Given the description of an element on the screen output the (x, y) to click on. 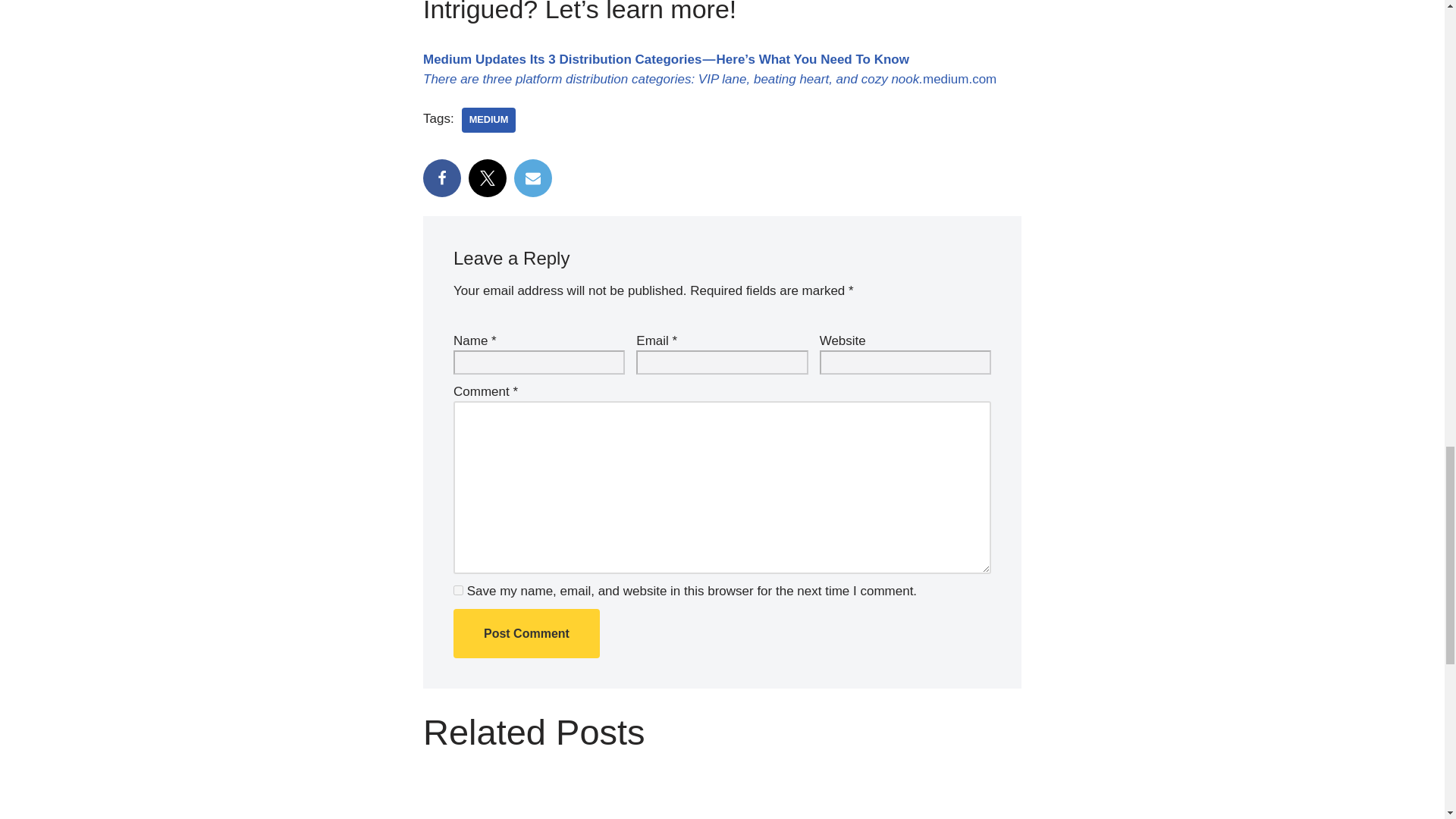
X (487, 177)
Facebook (442, 177)
Post Comment (525, 634)
Medium (488, 119)
Post Comment (525, 634)
Email (532, 177)
MEDIUM (488, 119)
yes (457, 590)
